Given the description of an element on the screen output the (x, y) to click on. 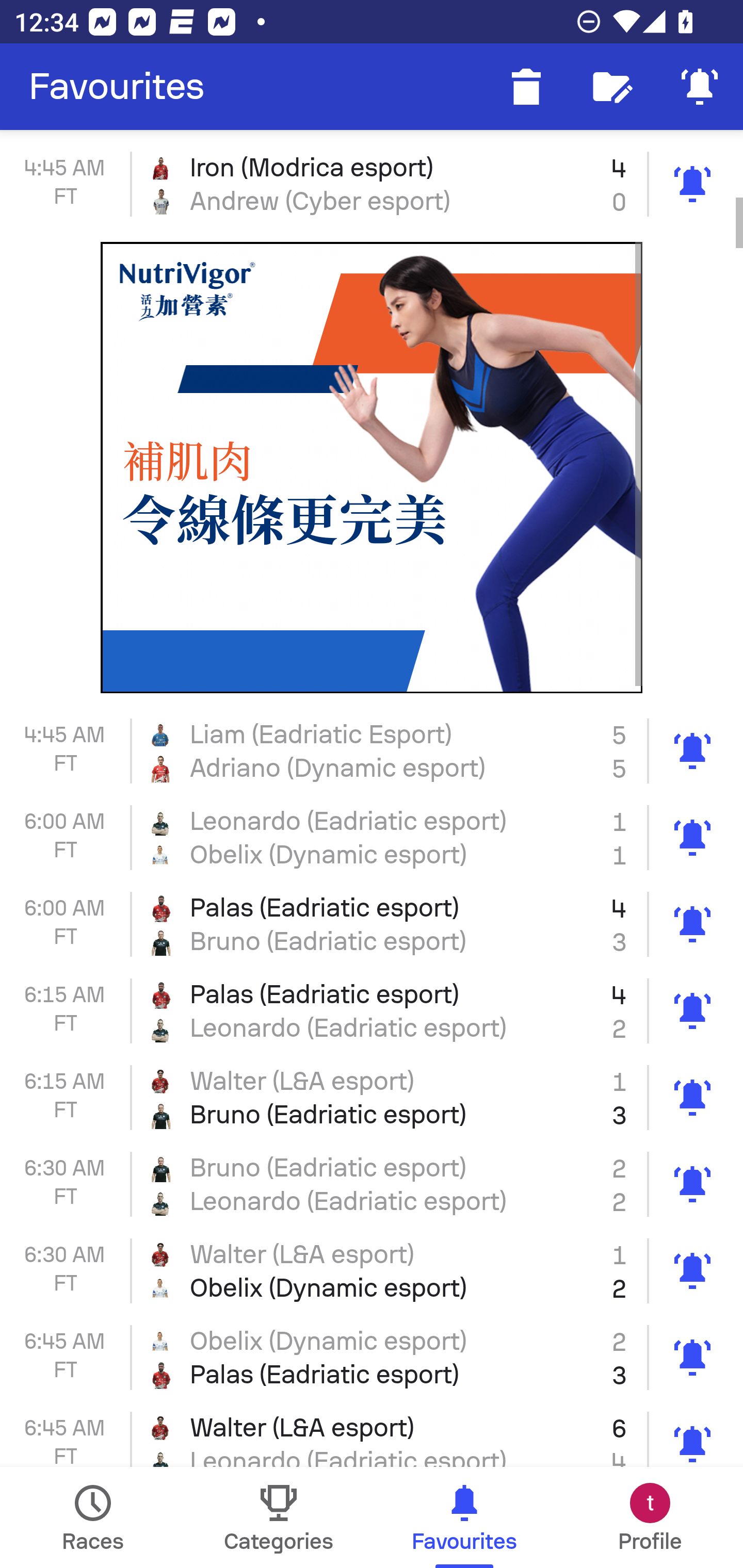
Favourites (116, 86)
Delete finished (525, 86)
Follow editor (612, 86)
Mute Notifications (699, 86)
Races (92, 1517)
Categories (278, 1517)
Profile (650, 1517)
